Given the description of an element on the screen output the (x, y) to click on. 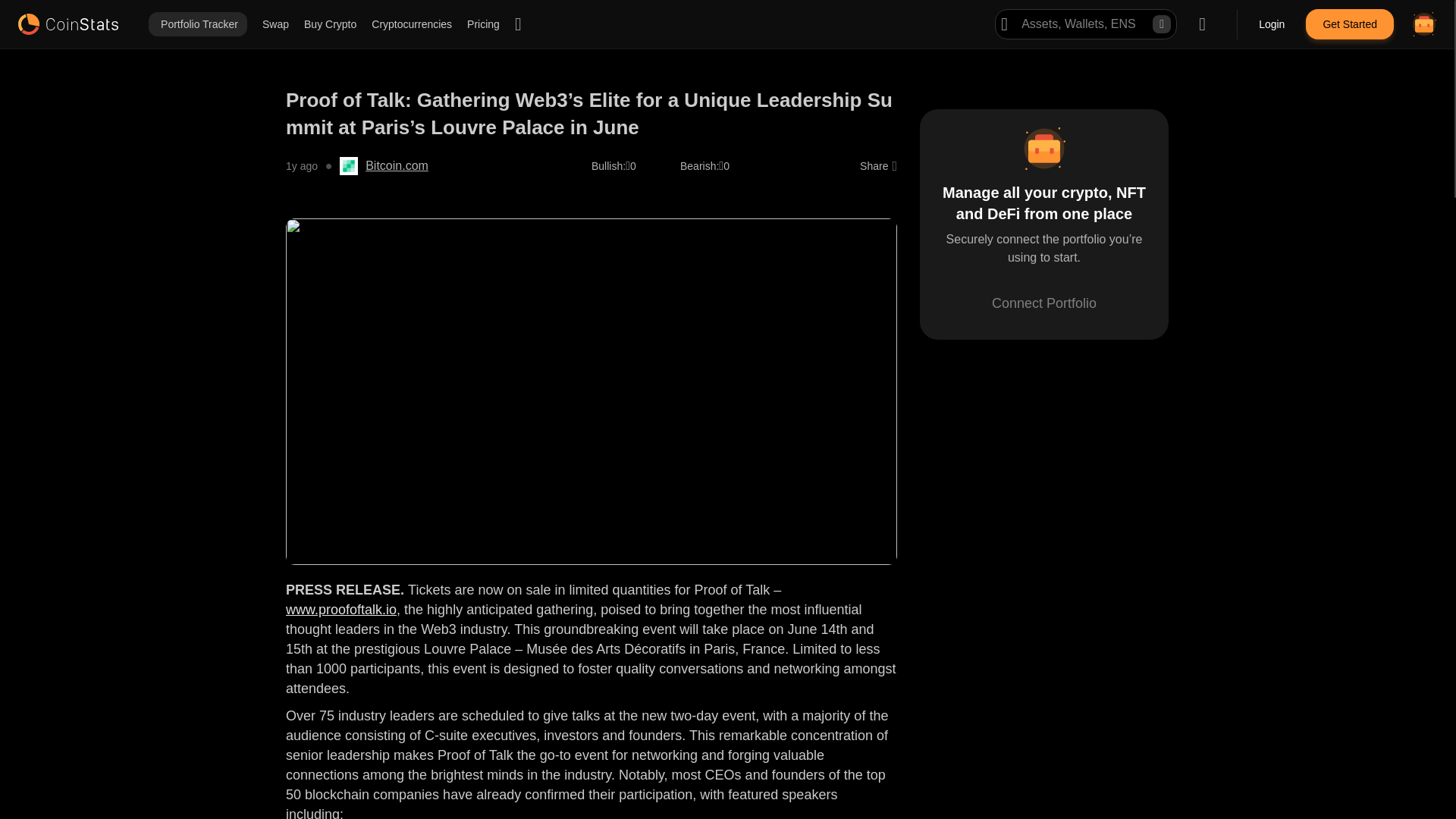
Get Started (1349, 24)
Portfolio Tracker (197, 24)
Login (1271, 24)
Swap (275, 23)
Bitcoin.com (396, 166)
Cryptocurrencies (411, 23)
bullish (608, 165)
Pricing (483, 23)
www.proofoftalk.io (340, 609)
Portfolio Tracker (197, 24)
bearish (699, 165)
Pricing (483, 23)
Swap (275, 23)
Cryptocurrencies (411, 23)
